Given the description of an element on the screen output the (x, y) to click on. 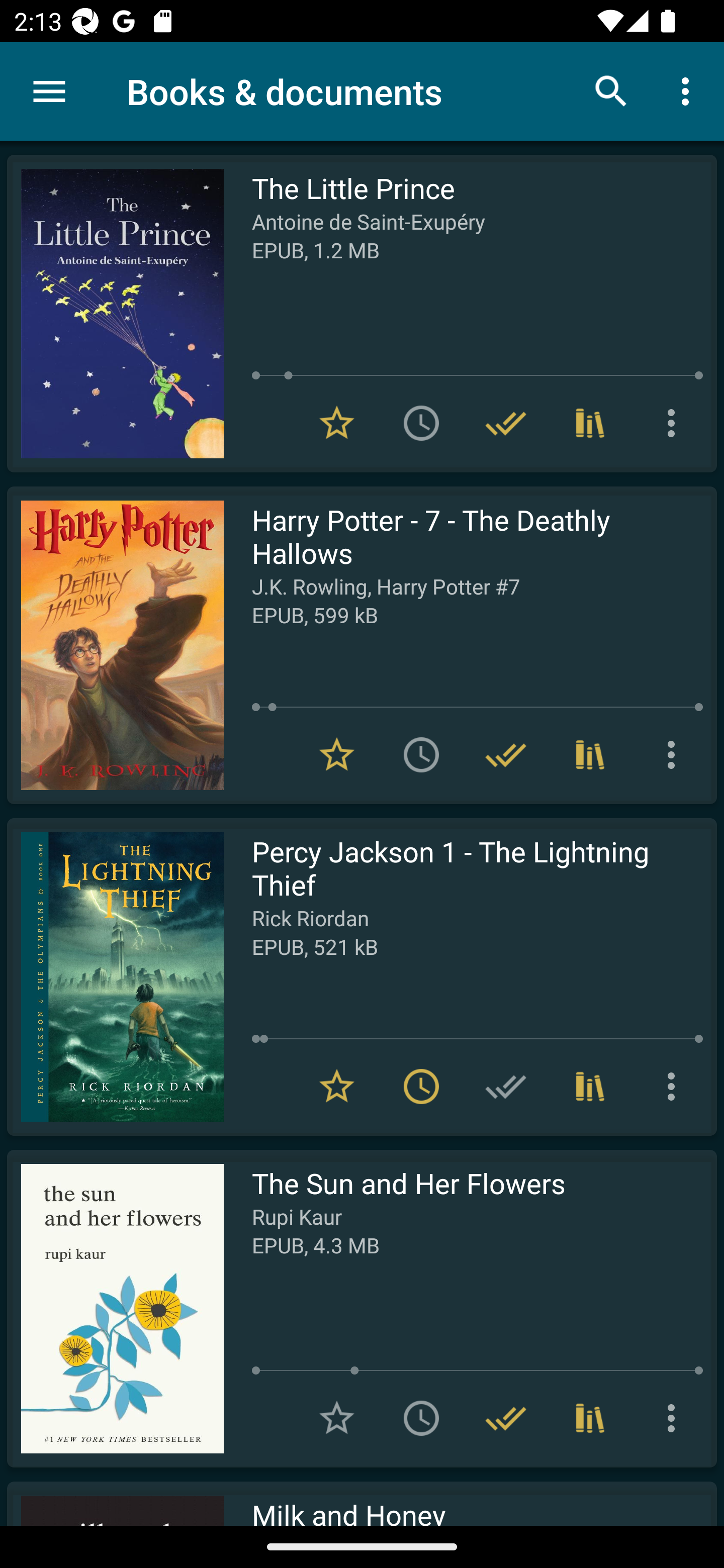
Menu (49, 91)
Search books & documents (611, 90)
More options (688, 90)
Read The Little Prince (115, 313)
Remove from Favorites (336, 423)
Add to To read (421, 423)
Remove from Have read (505, 423)
Collections (1) (590, 423)
More options (674, 423)
Read Harry Potter - 7 - The Deathly Hallows (115, 645)
Remove from Favorites (336, 753)
Add to To read (421, 753)
Remove from Have read (505, 753)
Collections (3) (590, 753)
More options (674, 753)
Read Percy Jackson 1 - The Lightning Thief (115, 976)
Remove from Favorites (336, 1086)
Remove from To read (421, 1086)
Add to Have read (505, 1086)
Collections (1) (590, 1086)
More options (674, 1086)
Read The Sun and Her Flowers (115, 1308)
Add to Favorites (336, 1417)
Add to To read (421, 1417)
Remove from Have read (505, 1417)
Collections (1) (590, 1417)
More options (674, 1417)
